Given the description of an element on the screen output the (x, y) to click on. 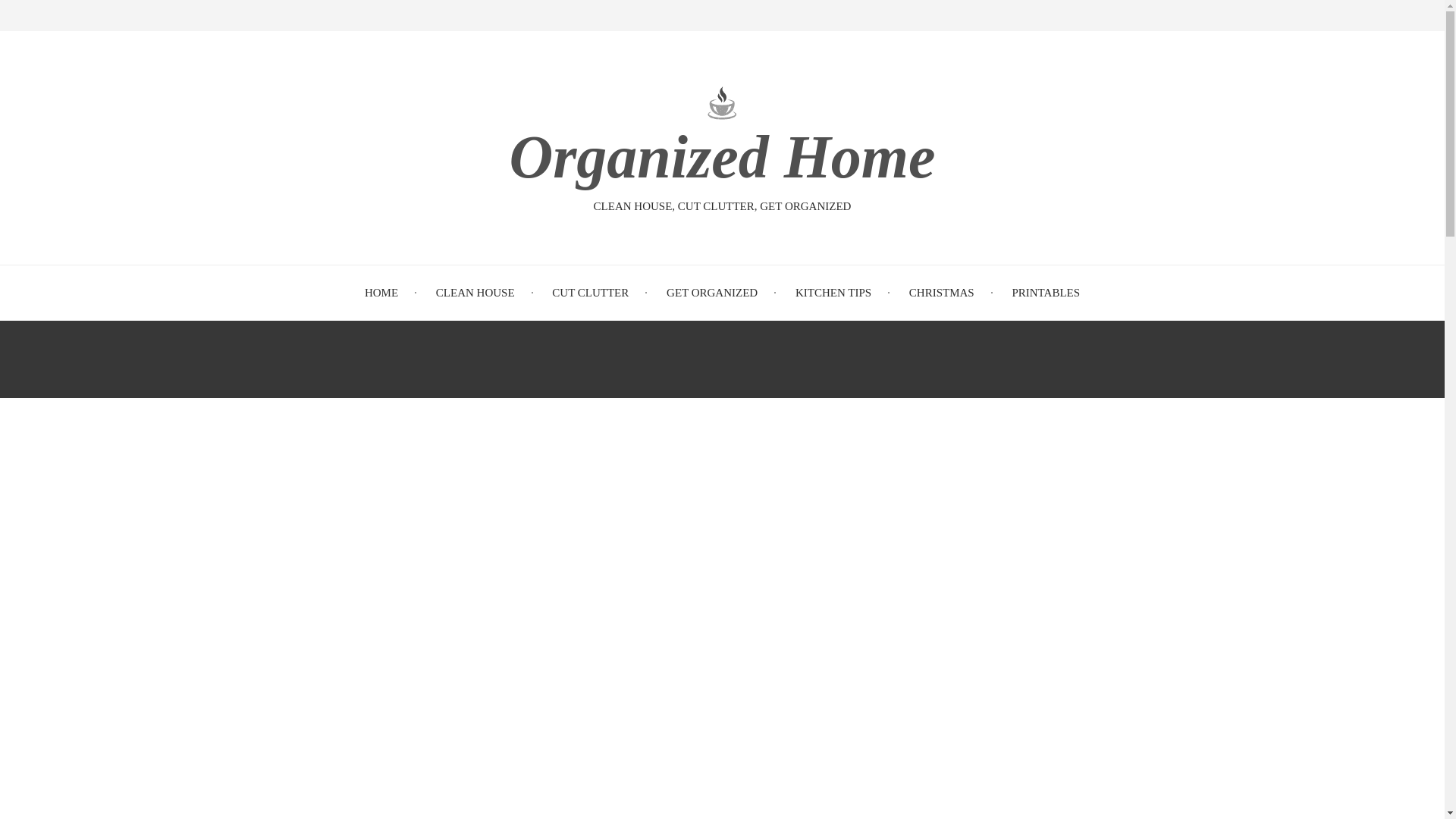
HOME (380, 292)
Home (722, 101)
Home (721, 155)
PRINTABLES (1045, 292)
KITCHEN TIPS (832, 292)
CUT CLUTTER (590, 292)
Organized Home (721, 155)
CLEAN HOUSE (475, 292)
CHRISTMAS (941, 292)
Get organized for Christmas (941, 292)
GET ORGANIZED (711, 292)
